Given the description of an element on the screen output the (x, y) to click on. 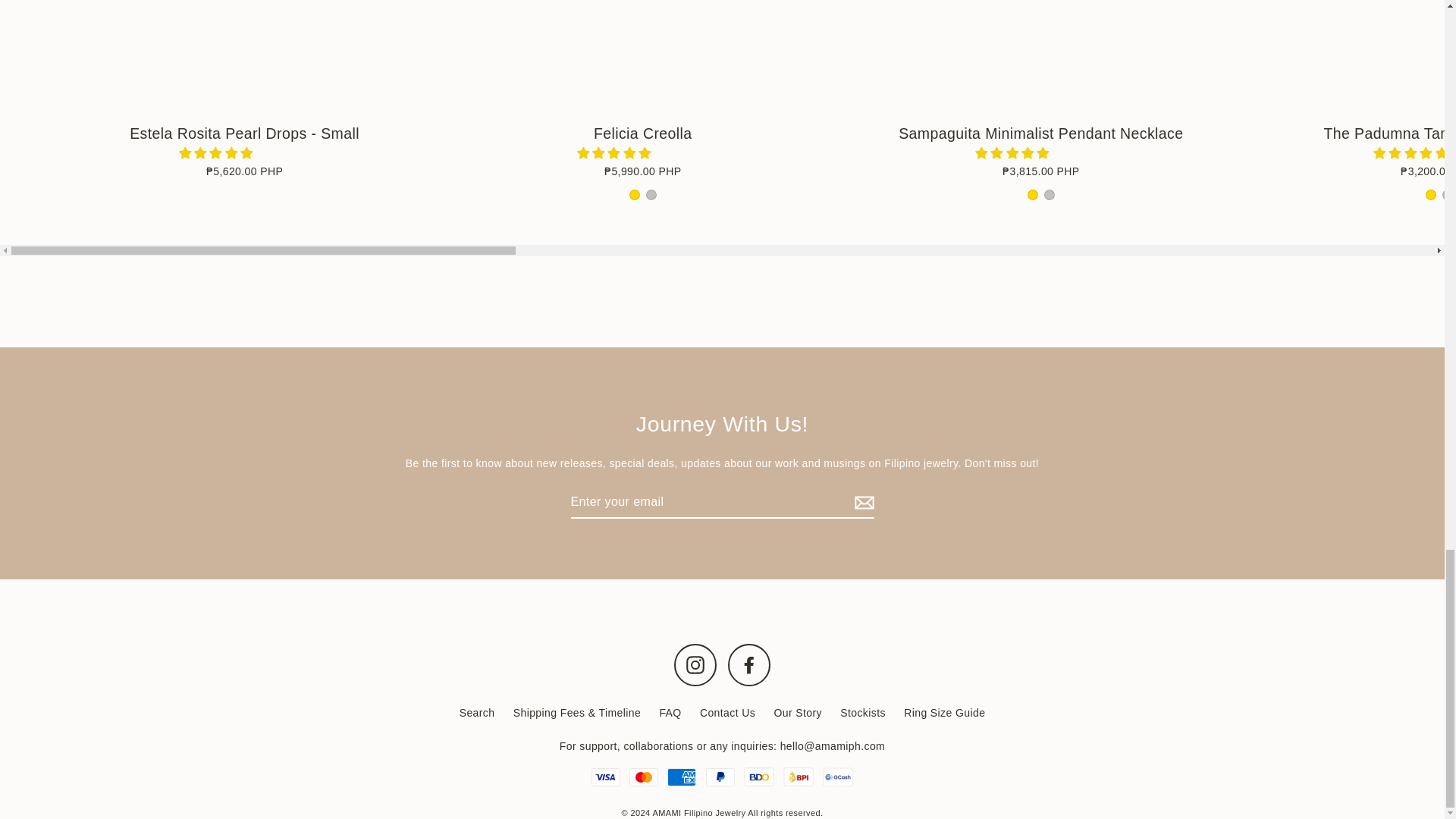
AMAMI Filipino Jewelry on Instagram (695, 664)
AMAMI Filipino Jewelry on Facebook (749, 664)
American Express (680, 777)
PayPal (718, 777)
Mastercard (643, 777)
Visa (605, 777)
